Given the description of an element on the screen output the (x, y) to click on. 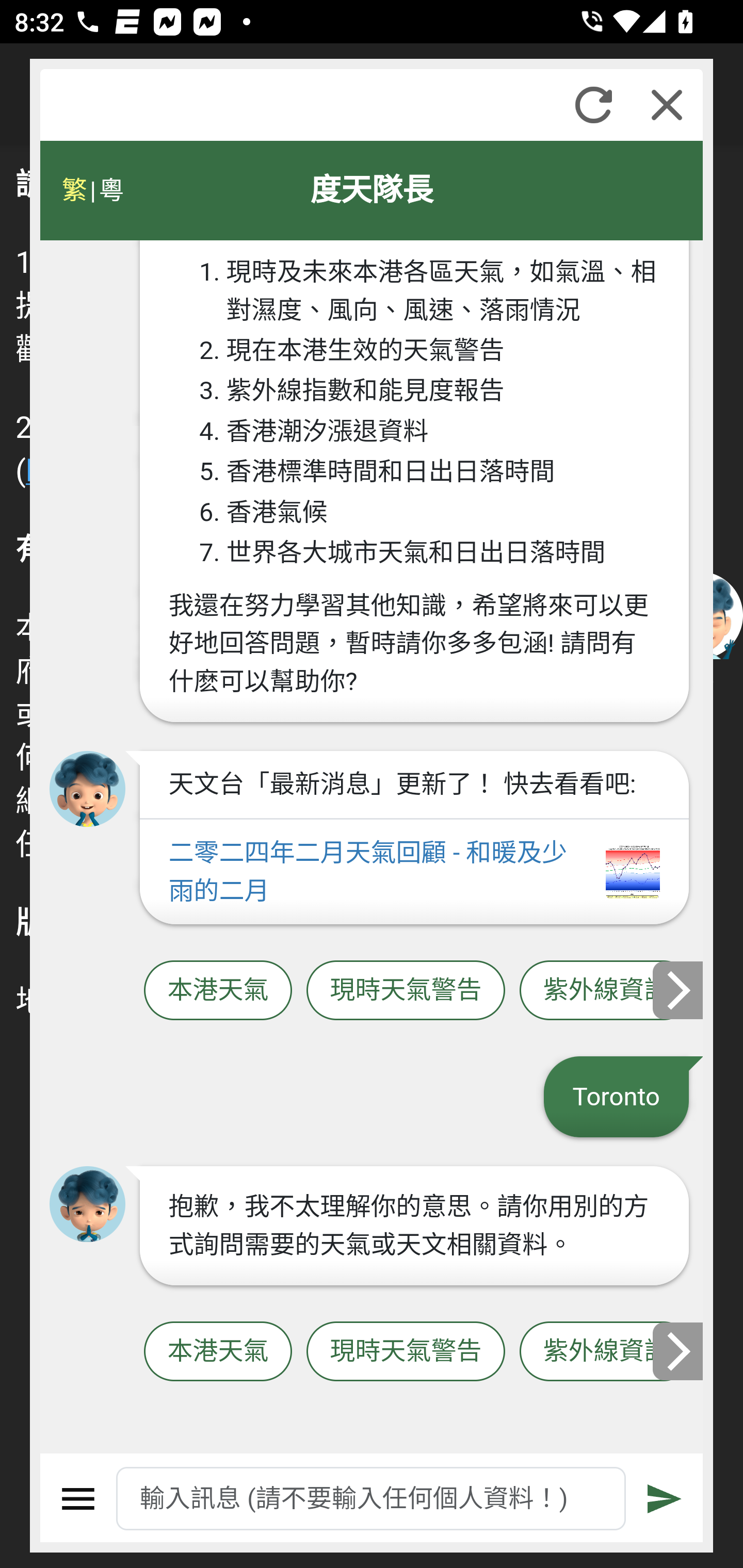
重新整理 (593, 104)
關閉 (666, 104)
繁 (73, 190)
粵 (110, 190)
二零二四年二月天氣回顧 - 和暖及少雨的二月 (413, 872)
本港天氣 (217, 990)
現時天氣警告 (405, 990)
紫外線資訊 (605, 990)
下一張 (678, 989)
本港天氣 (217, 1351)
現時天氣警告 (405, 1351)
紫外線資訊 (605, 1351)
下一張 (678, 1351)
選單 (78, 1498)
遞交 (665, 1498)
